Given the description of an element on the screen output the (x, y) to click on. 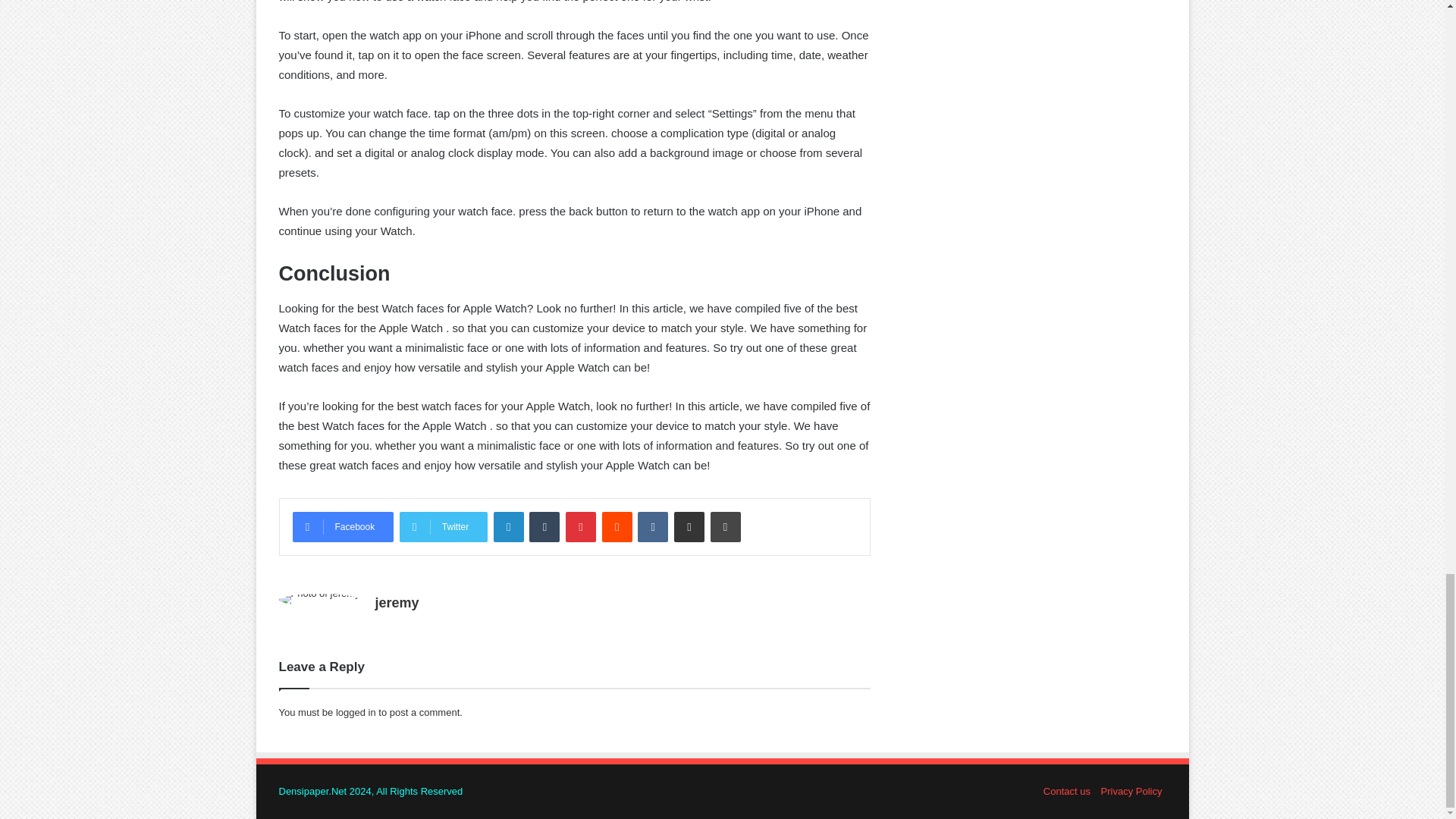
Print (725, 526)
Pinterest (580, 526)
Share via Email (689, 526)
Privacy Policy (1130, 790)
Twitter (442, 526)
jeremy (397, 602)
logged in (355, 712)
Facebook (343, 526)
Reddit (616, 526)
Facebook (343, 526)
Contact us (1066, 790)
Tumblr (544, 526)
Reddit (616, 526)
LinkedIn (508, 526)
VKontakte (652, 526)
